Given the description of an element on the screen output the (x, y) to click on. 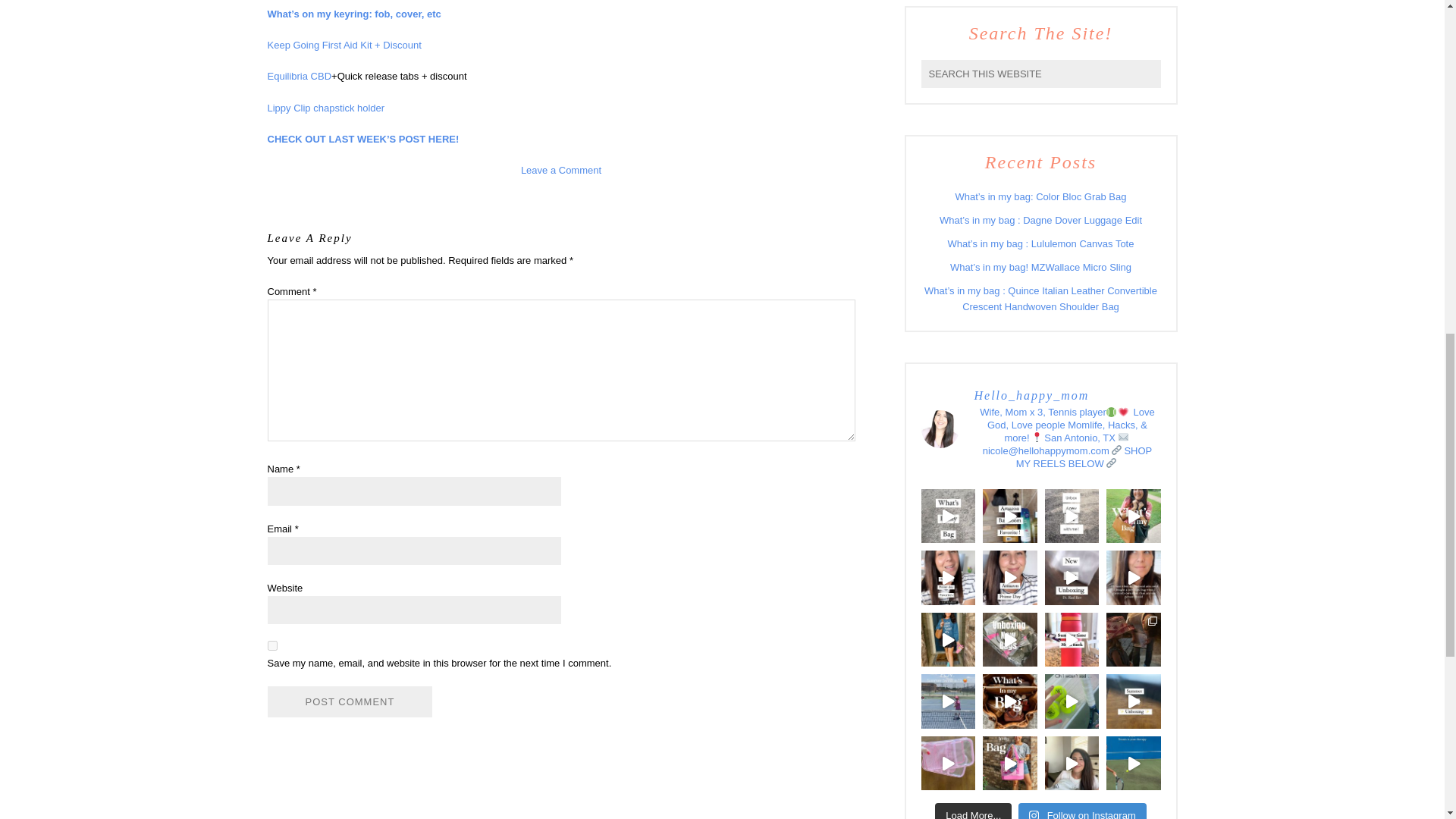
Leave a Comment (561, 170)
Lippy Clip chapstick holder (325, 107)
Post Comment (349, 701)
yes (271, 645)
Post Comment (349, 701)
Equilibria CBD (298, 75)
